Given the description of an element on the screen output the (x, y) to click on. 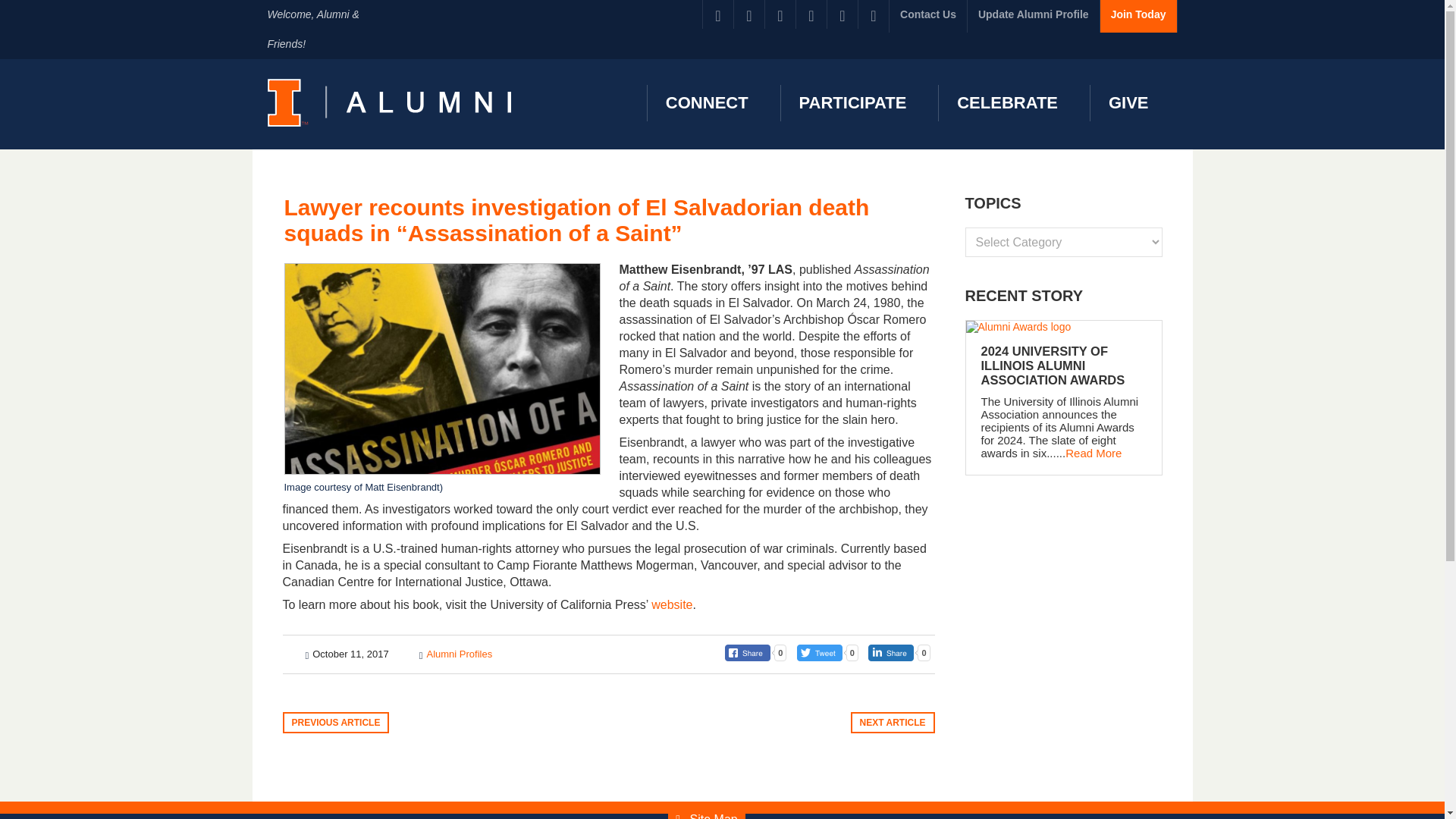
CONNECT (704, 103)
Linkedin (779, 14)
Twitter (748, 14)
Instagram (842, 14)
Contact Us (927, 16)
Facebook (718, 14)
Update Alumni Profile (1033, 16)
Flickr (811, 14)
GIVE (1126, 103)
CELEBRATE (1004, 103)
